Given the description of an element on the screen output the (x, y) to click on. 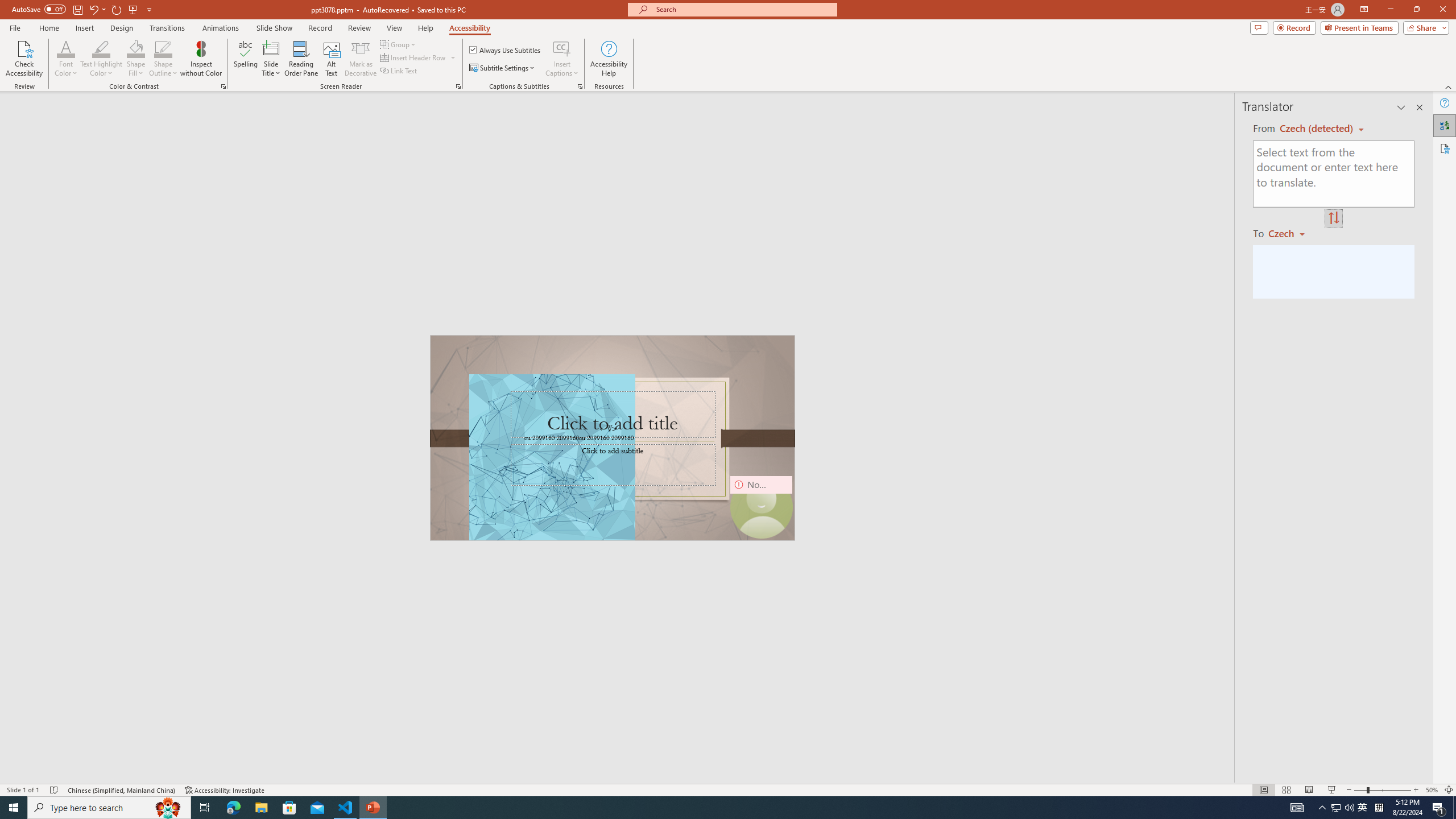
Mark as Decorative (360, 58)
Czech (1291, 232)
